Given the description of an element on the screen output the (x, y) to click on. 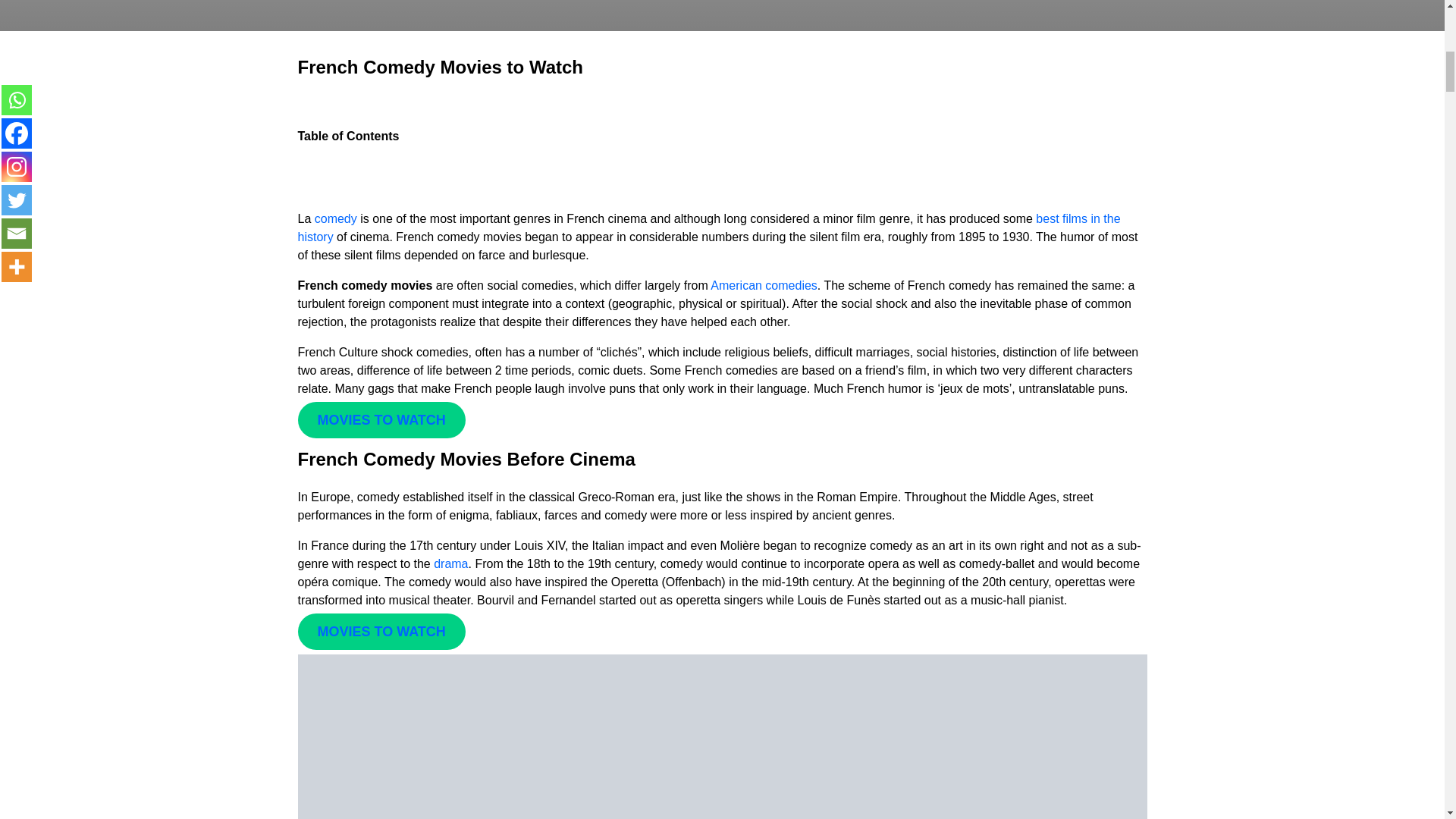
comedy (333, 218)
drama (450, 563)
best films in the history (708, 227)
American comedies (761, 285)
MOVIES TO WATCH (380, 631)
MOVIES TO WATCH (380, 420)
